Given the description of an element on the screen output the (x, y) to click on. 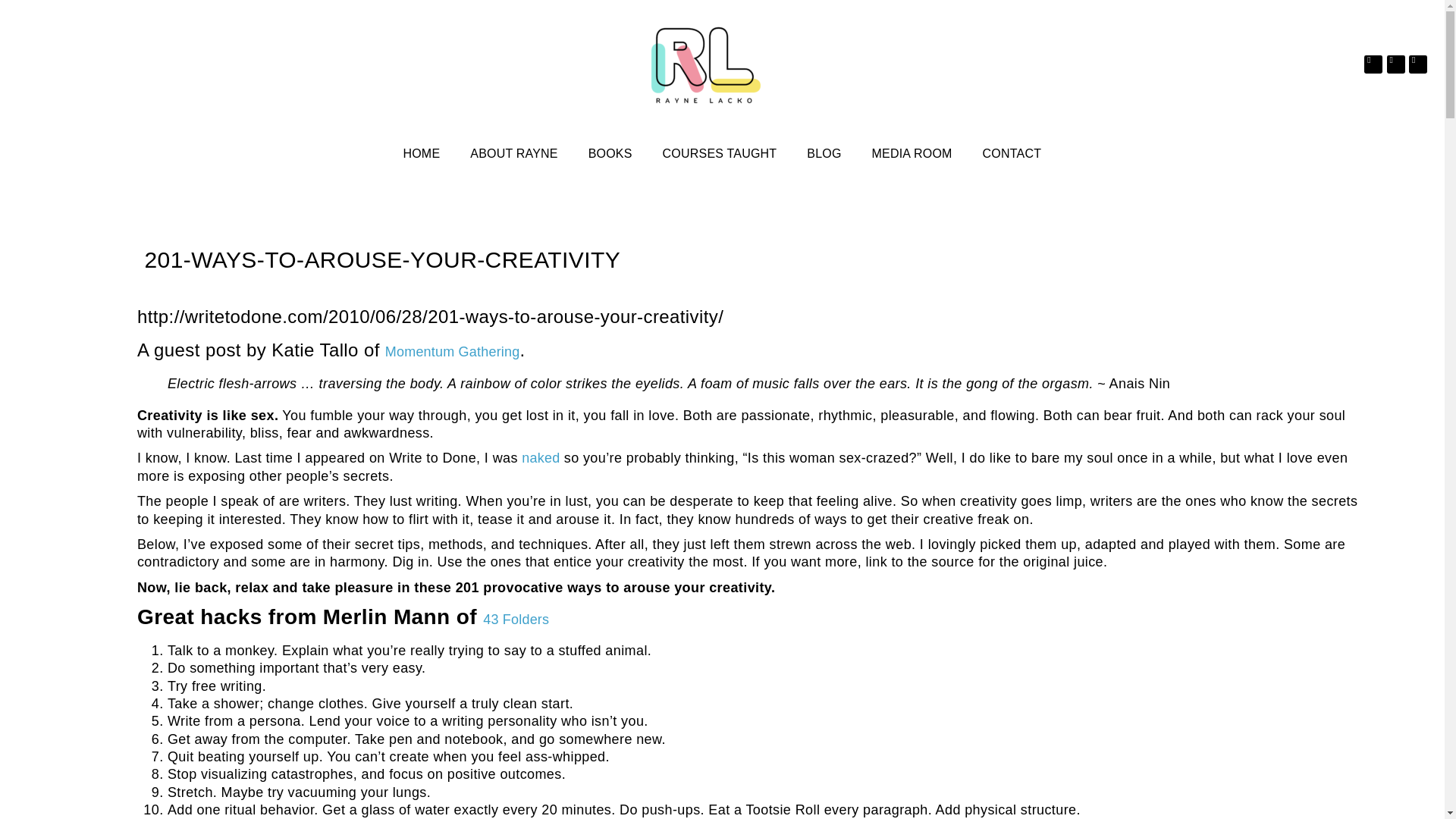
BLOG (824, 153)
naked (540, 458)
Momentum Gathering (452, 351)
43 Folders (515, 619)
COURSES TAUGHT (719, 153)
ABOUT RAYNE (513, 153)
MEDIA ROOM (912, 153)
HOME (420, 153)
CONTACT (1012, 153)
BOOKS (610, 153)
